Given the description of an element on the screen output the (x, y) to click on. 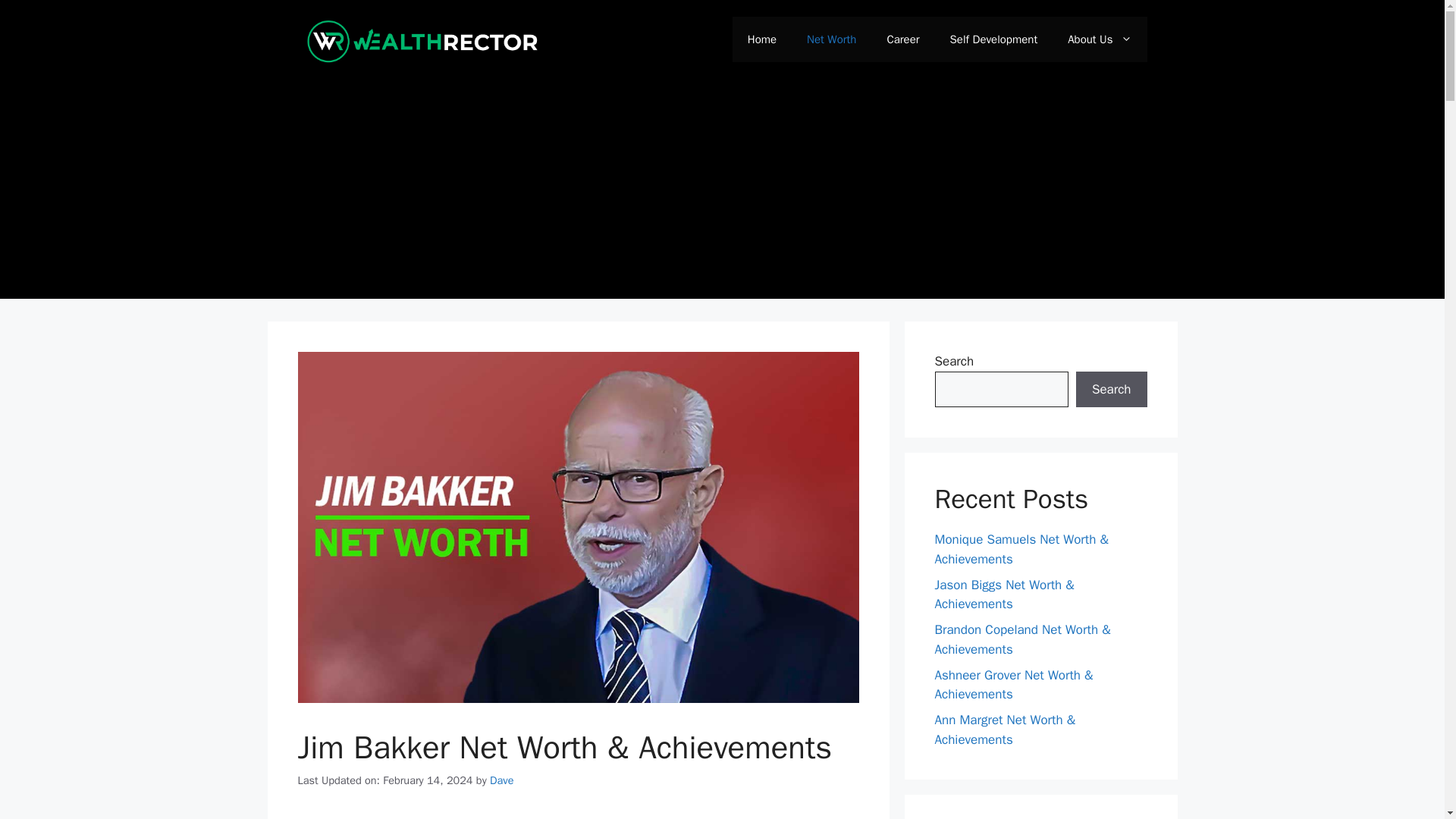
Self Development (993, 39)
Dave (501, 780)
Search (1111, 389)
About Us (1099, 39)
Home (762, 39)
Net Worth (831, 39)
View all posts by Dave (501, 780)
Career (902, 39)
